Given the description of an element on the screen output the (x, y) to click on. 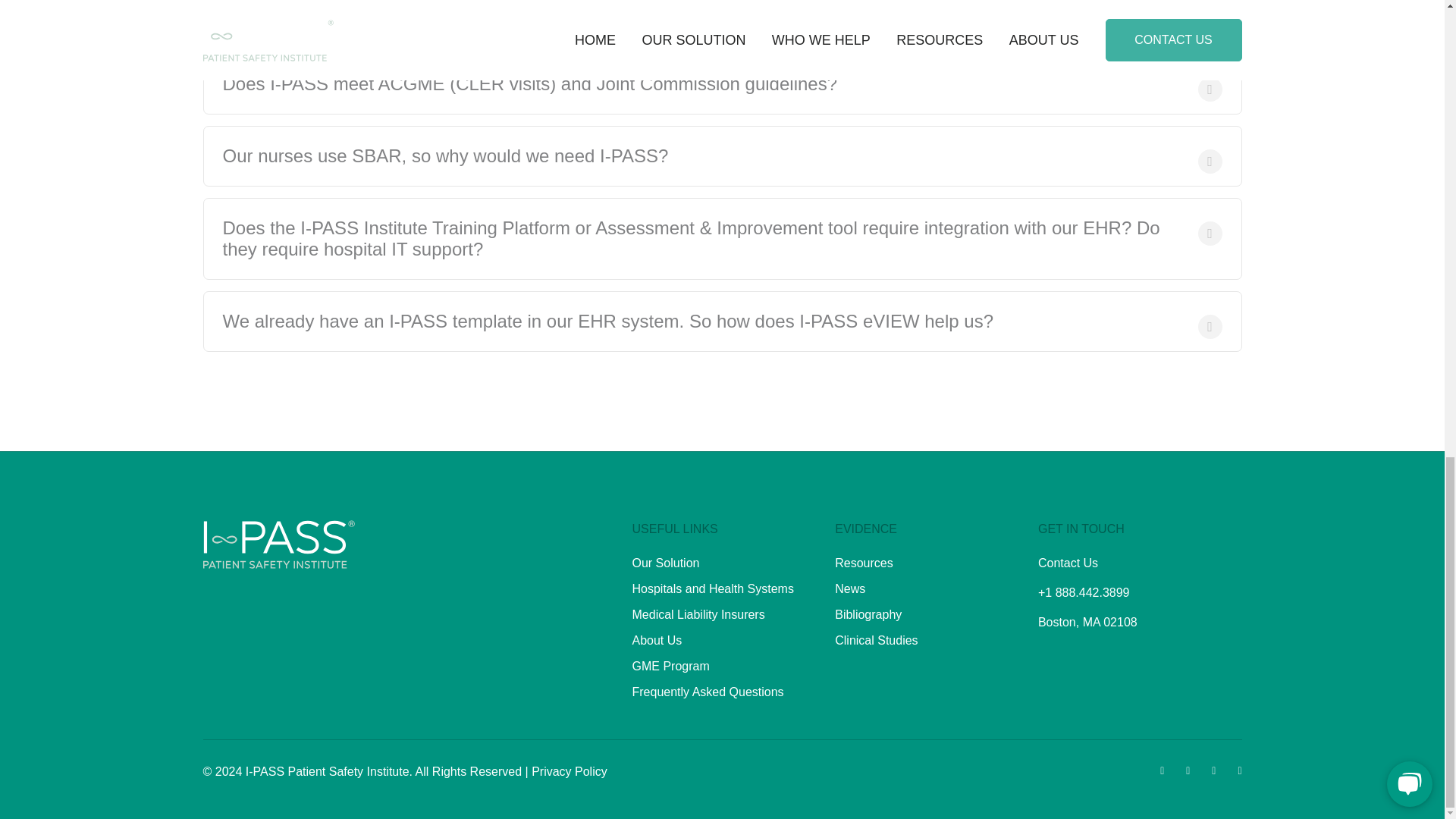
News (849, 588)
Clinical Studies (875, 640)
Privacy Policy (569, 771)
Contact Us (1067, 562)
Resources (863, 562)
GME Program (670, 666)
About Us (656, 640)
Hospitals and Health Systems (712, 588)
Bibliography (867, 614)
Frequently Asked Questions (707, 691)
Our Solution (665, 562)
Medical Liability Insurers (698, 614)
